Given the description of an element on the screen output the (x, y) to click on. 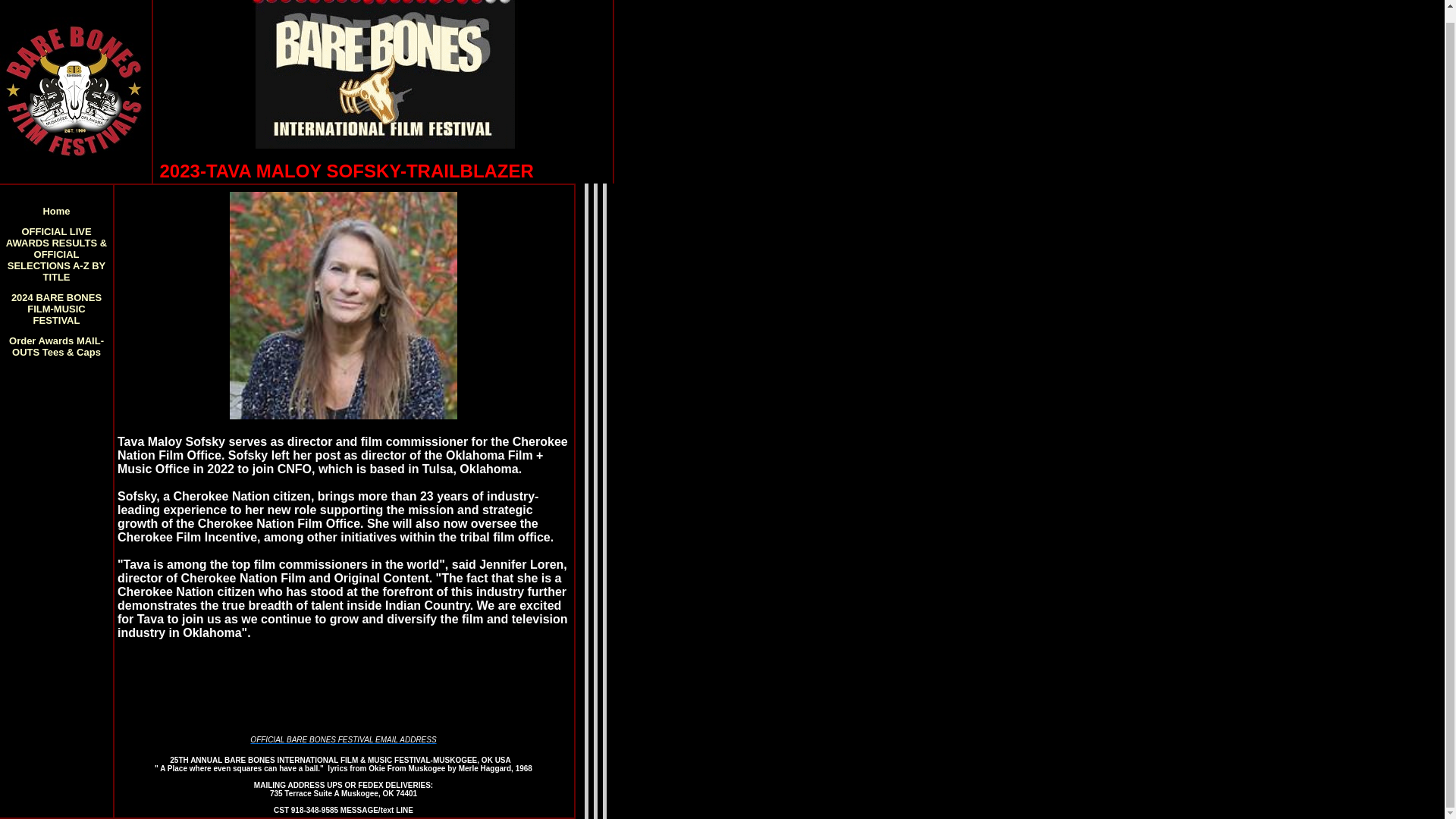
OFFICIAL BARE BONES FESTIVAL EMAIL ADDRESS (342, 739)
2024 BARE BONES FILM-MUSIC FESTIVAL (56, 307)
Home (55, 210)
